Given the description of an element on the screen output the (x, y) to click on. 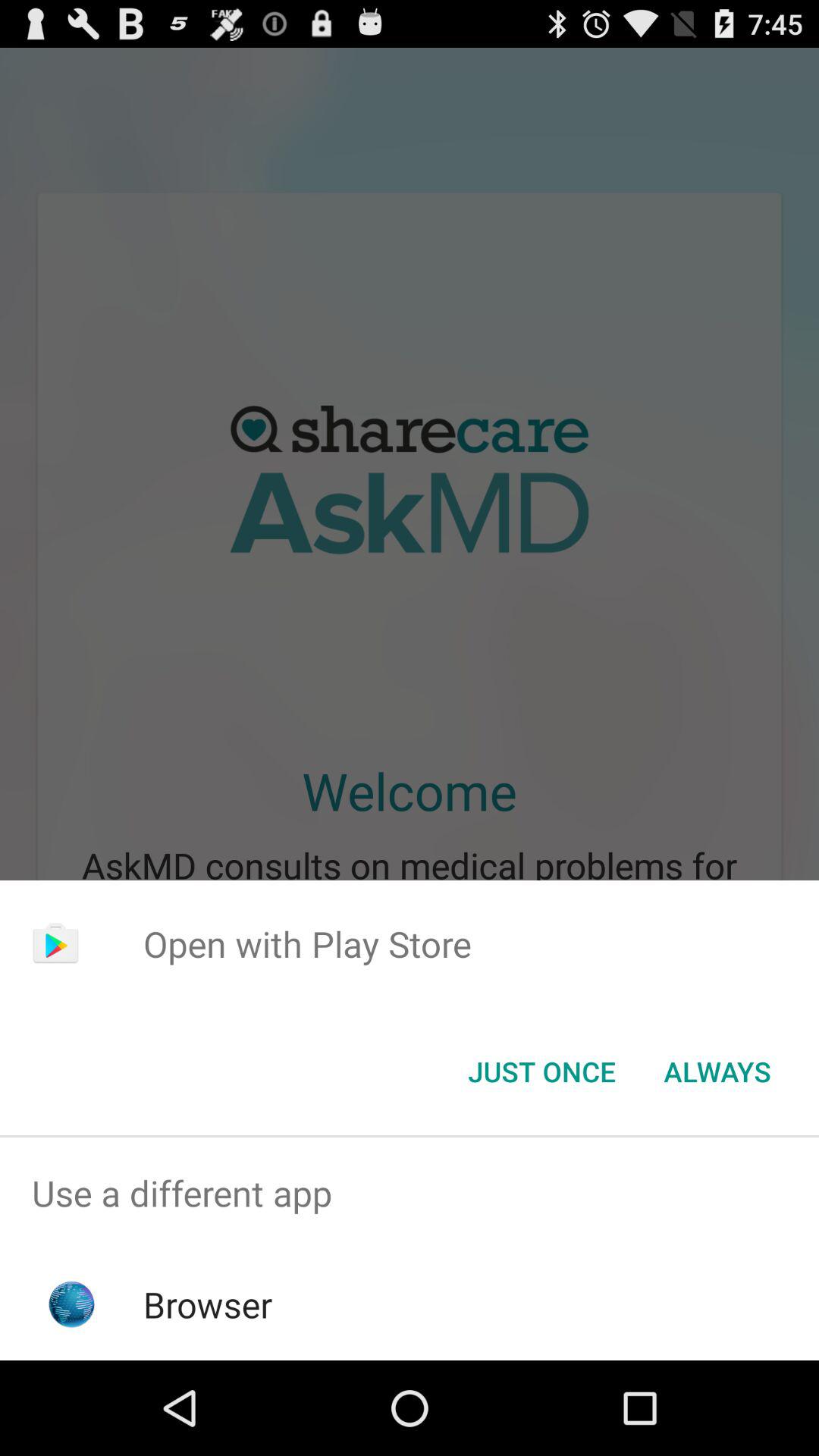
scroll until always icon (717, 1071)
